Given the description of an element on the screen output the (x, y) to click on. 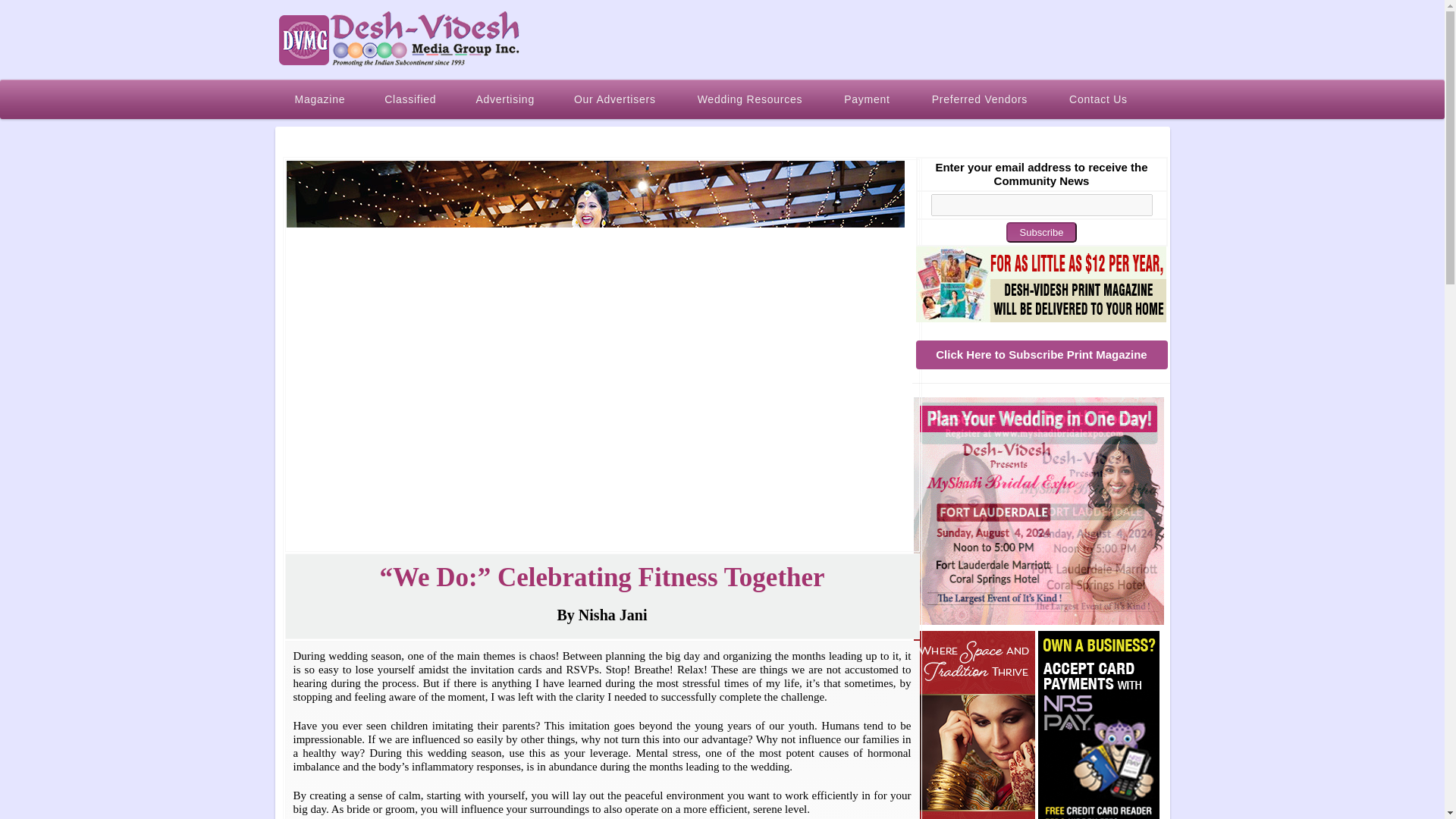
Preferred Vendors (980, 98)
Payment (868, 98)
Classified (410, 98)
Advertising (504, 98)
Our Advertisers (616, 98)
Desh-Videsh Media Group (398, 38)
Subscribe (1041, 231)
Magazine (320, 98)
Wedding Resources (751, 98)
Contact Us (1099, 98)
